Given the description of an element on the screen output the (x, y) to click on. 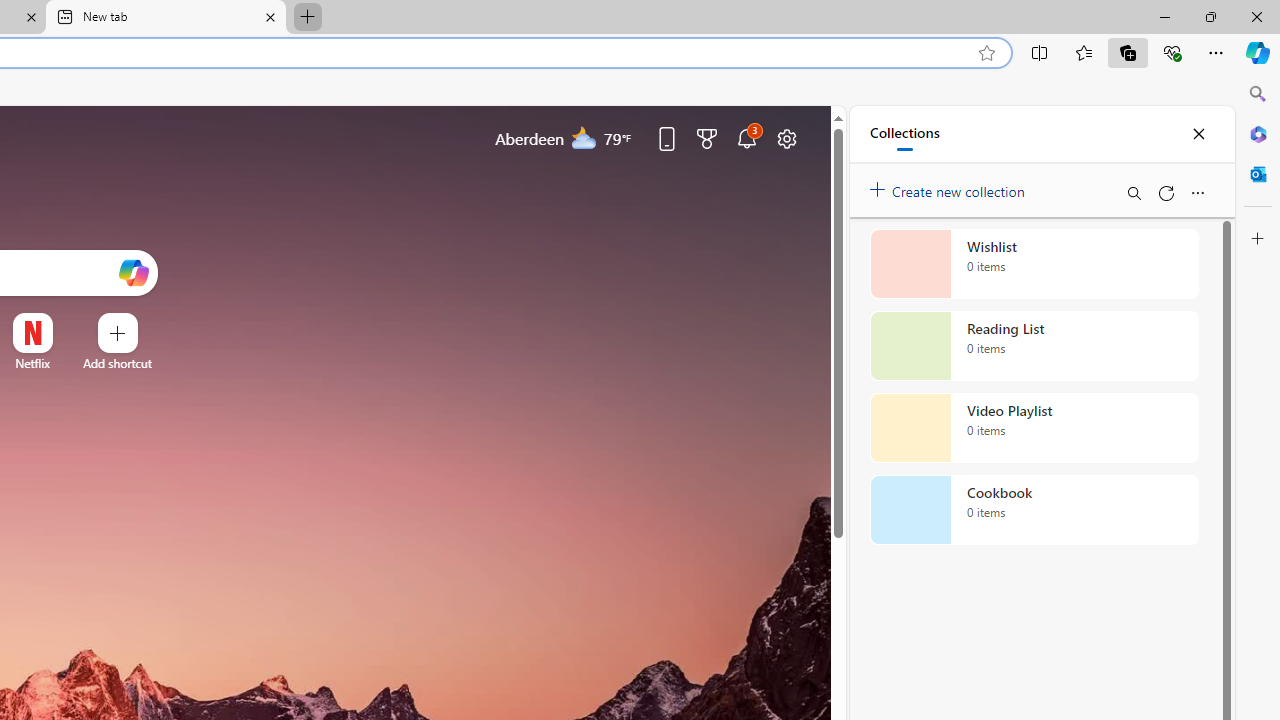
Wishlist collection, 0 items (1034, 263)
Netflix (32, 363)
Page settings (786, 138)
Video Playlist collection, 0 items (1034, 427)
Reading List collection, 0 items (1034, 345)
Add a site (117, 363)
